Given the description of an element on the screen output the (x, y) to click on. 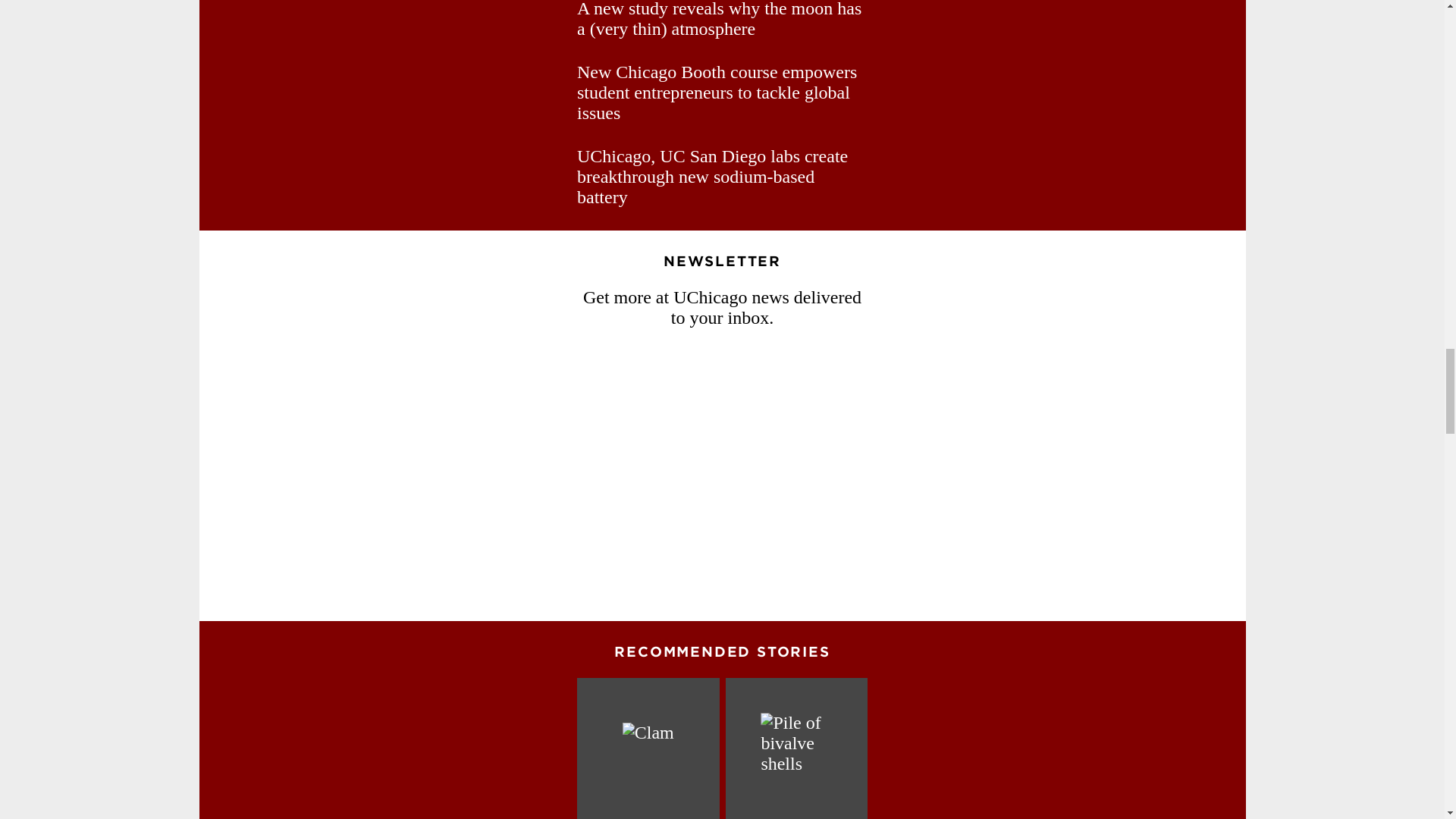
Lost ecosystem found in southern California coastal waters (796, 748)
Scientists predict extinction risk for hard-to-track species (647, 748)
Scientists predict extinction risk for hard-to-track species (647, 748)
